Given the description of an element on the screen output the (x, y) to click on. 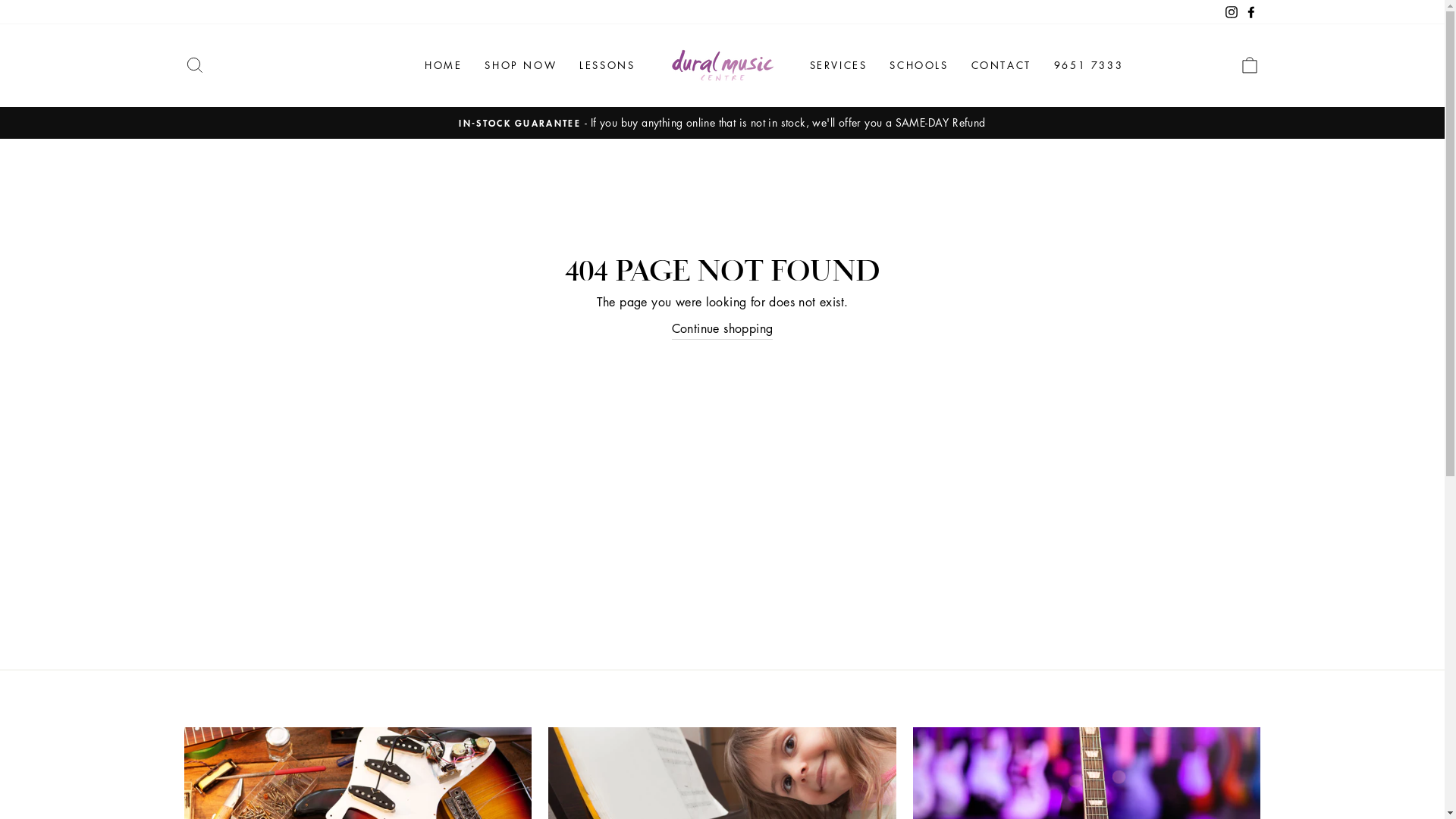
9651 7333 Element type: text (1088, 64)
CONTACT Element type: text (1001, 64)
SCHOOLS Element type: text (918, 64)
HOME Element type: text (443, 64)
Instagram Element type: text (1230, 12)
Continue shopping Element type: text (722, 329)
CART Element type: text (1249, 65)
Skip to content Element type: text (0, 0)
SERVICES Element type: text (837, 64)
SHOP NOW Element type: text (520, 64)
Facebook Element type: text (1250, 12)
SEARCH Element type: text (193, 65)
LESSONS Element type: text (606, 64)
